Given the description of an element on the screen output the (x, y) to click on. 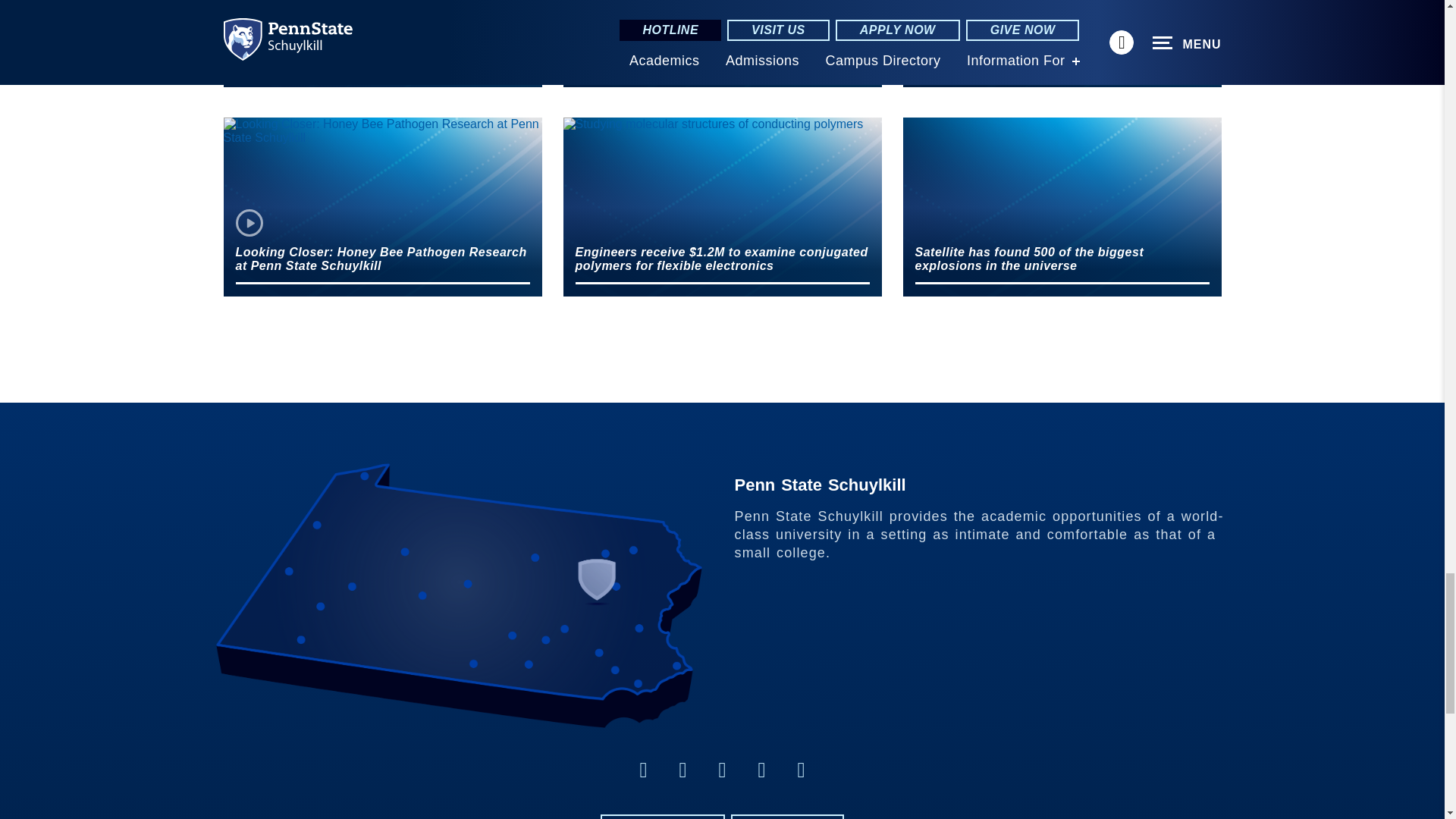
youtube (761, 770)
twitter (721, 770)
linkedin (682, 770)
facebook (642, 770)
instagram (800, 770)
